Given the description of an element on the screen output the (x, y) to click on. 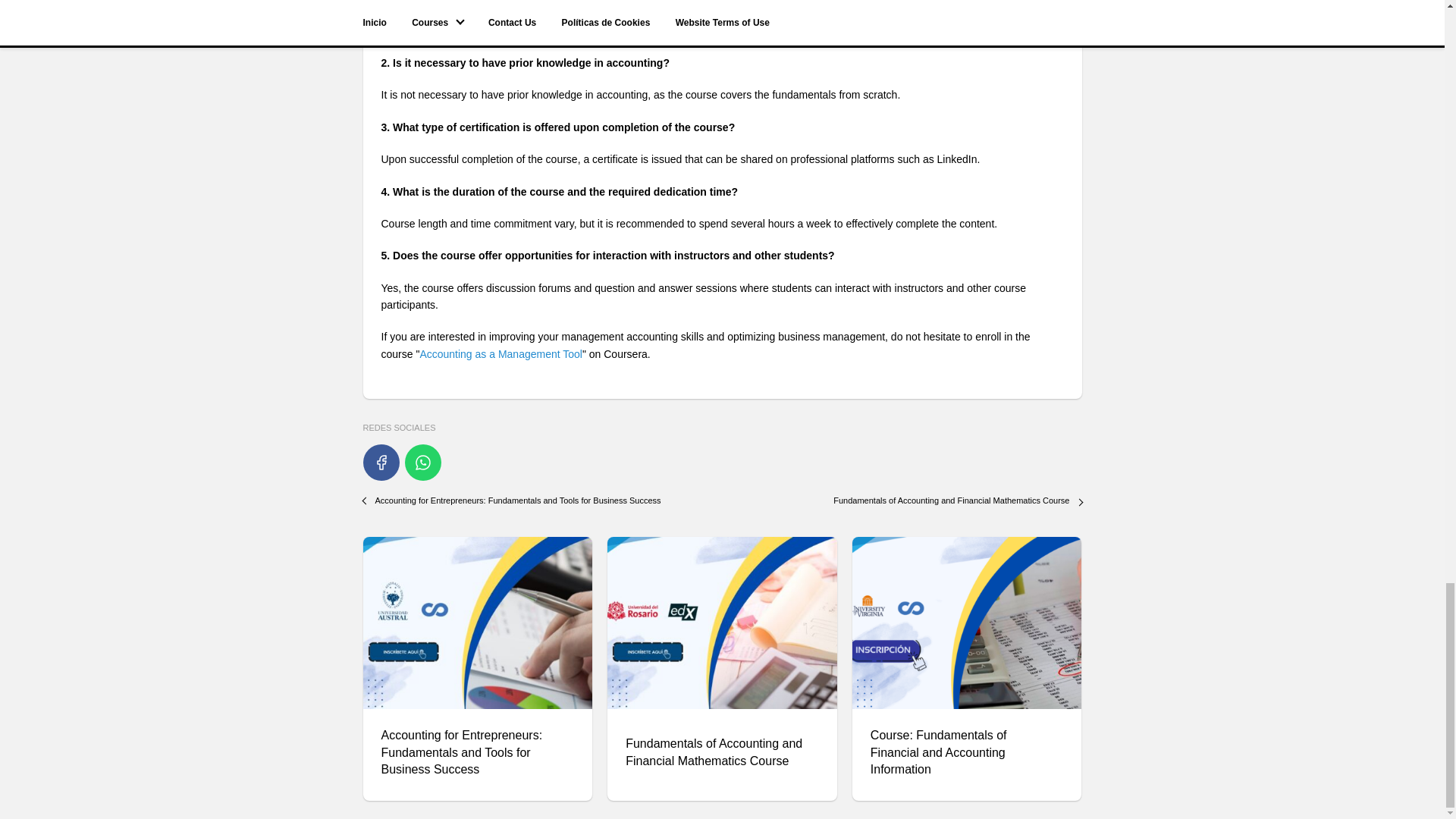
Accounting as a Management Tool (500, 354)
Facebook (380, 462)
Fundamentals of Accounting and Financial Mathematics Course (950, 500)
WhatsApp (422, 462)
